Given the description of an element on the screen output the (x, y) to click on. 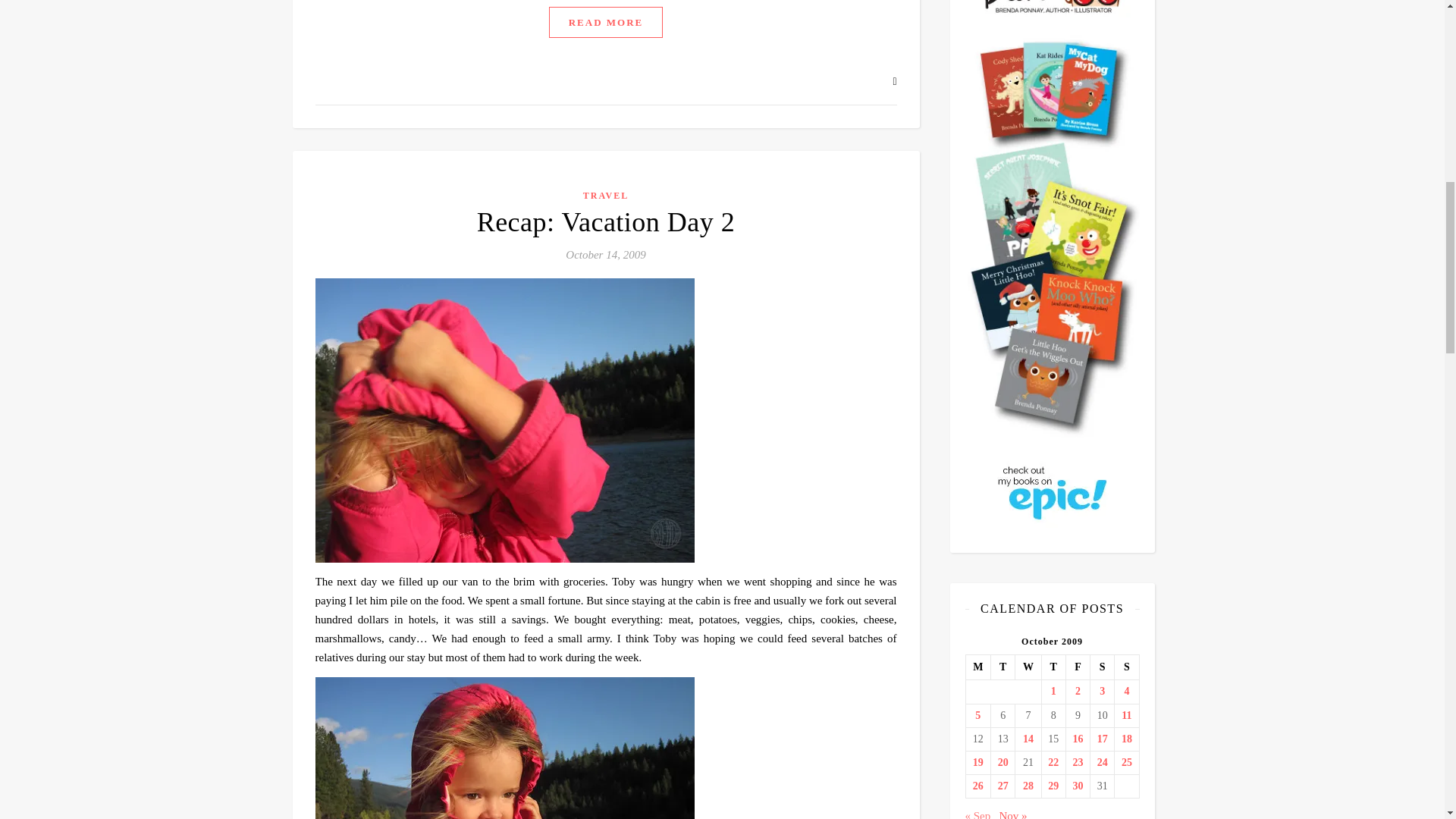
TRAVEL (605, 194)
Friday (1077, 667)
Tuesday (1002, 667)
Thursday (1053, 667)
windy 2 by secret agent josephine, on Flickr (605, 748)
READ MORE (605, 20)
Saturday (1102, 667)
Wednesday (1027, 667)
Monday (978, 667)
